Given the description of an element on the screen output the (x, y) to click on. 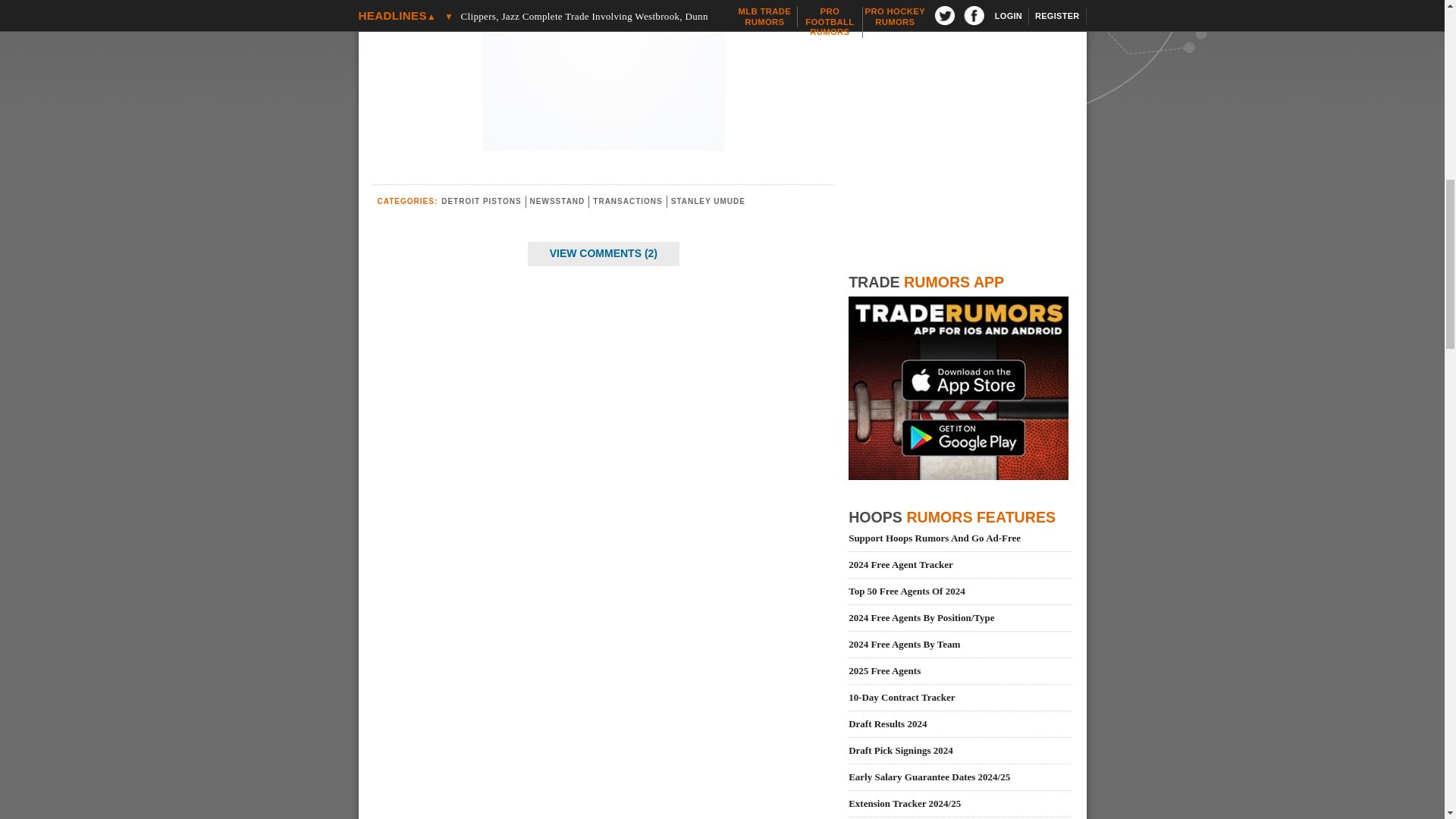
View all posts in Newsstand (557, 201)
View all posts in Detroit Pistons (481, 201)
View all posts in Transactions (627, 201)
View all posts in Stanley Umude (708, 201)
3rd party ad content (603, 71)
